Given the description of an element on the screen output the (x, y) to click on. 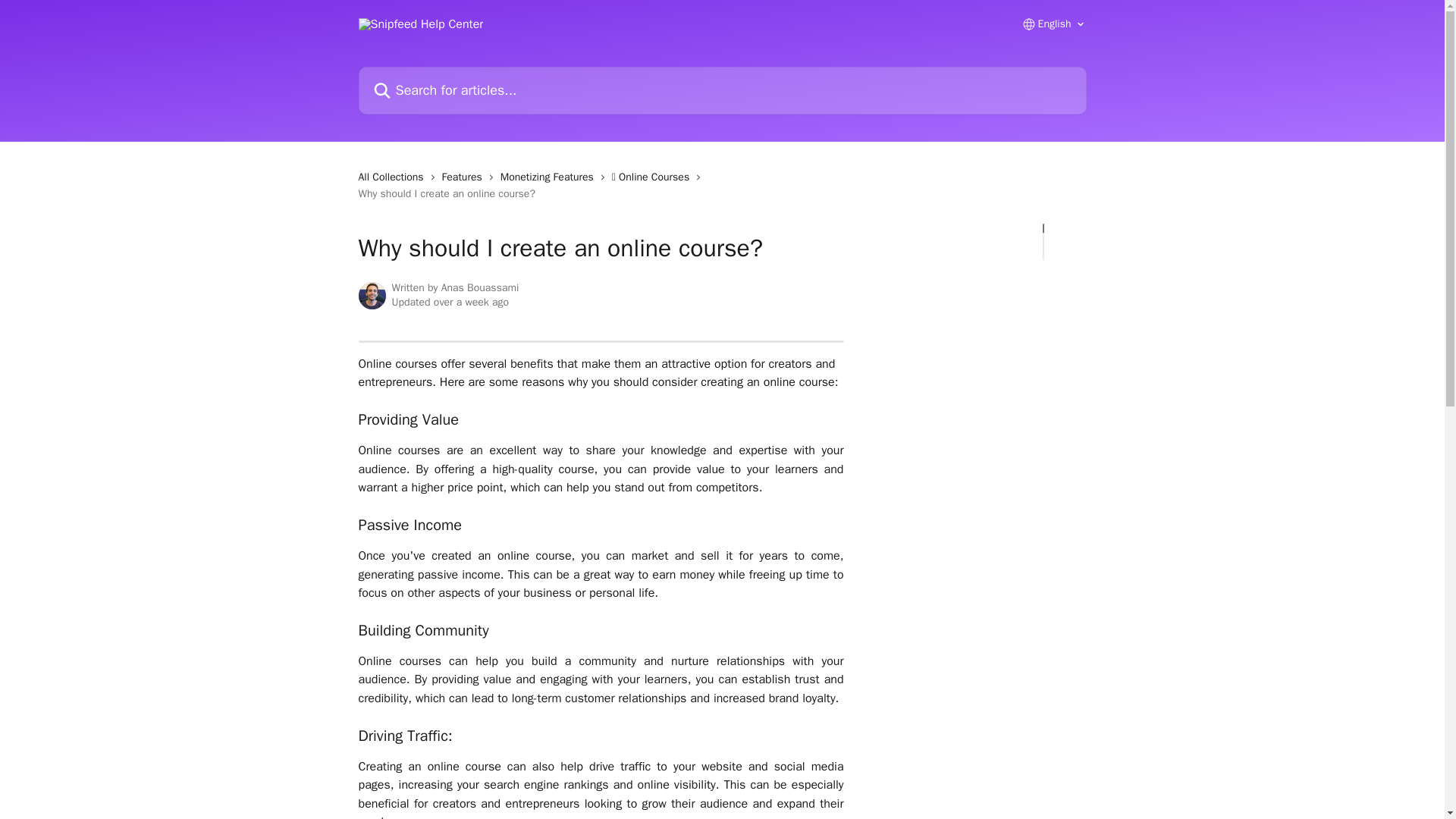
Features (464, 176)
Monetizing Features (549, 176)
All Collections (393, 176)
